Given the description of an element on the screen output the (x, y) to click on. 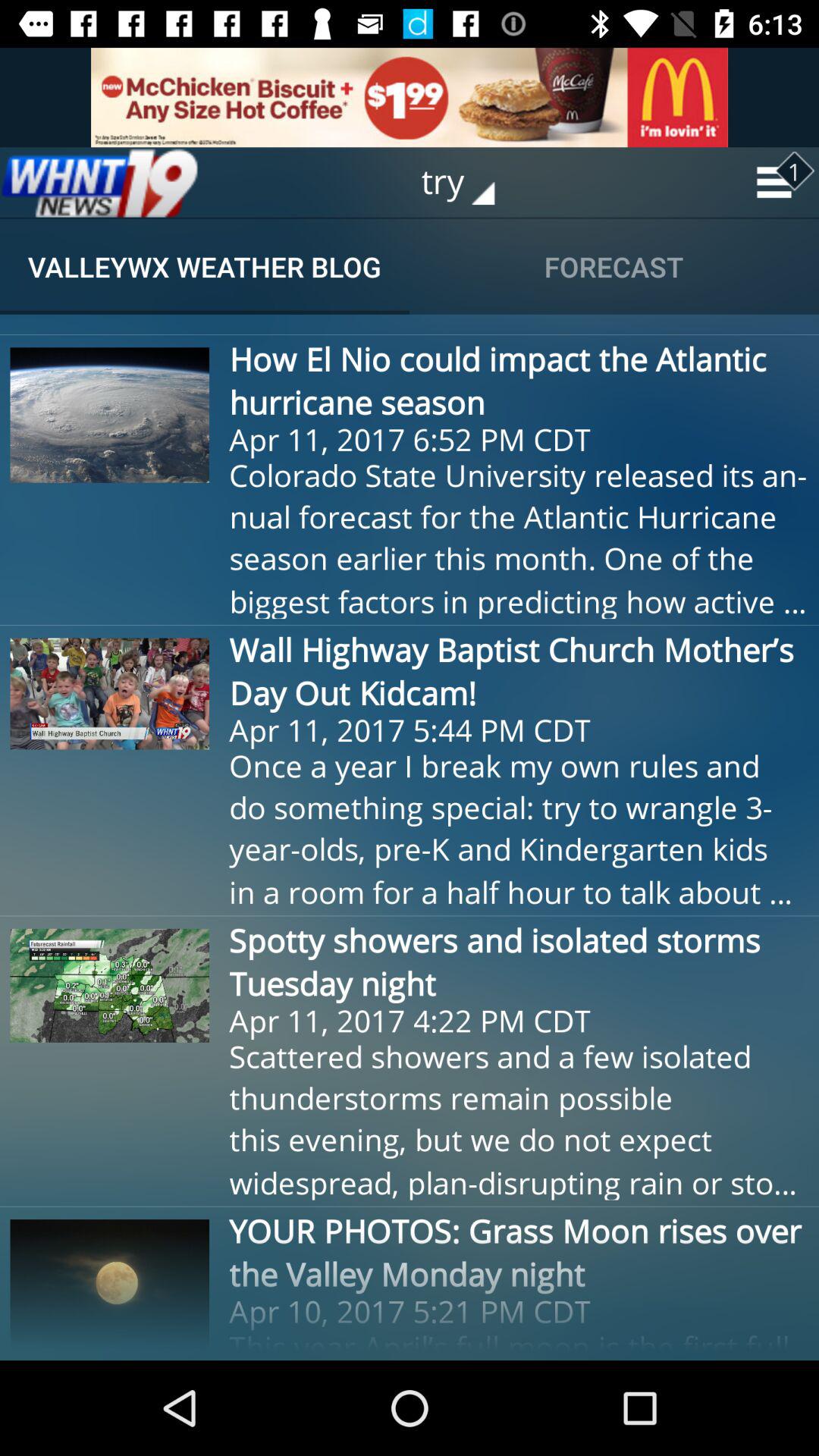
tap to see news (99, 182)
